Given the description of an element on the screen output the (x, y) to click on. 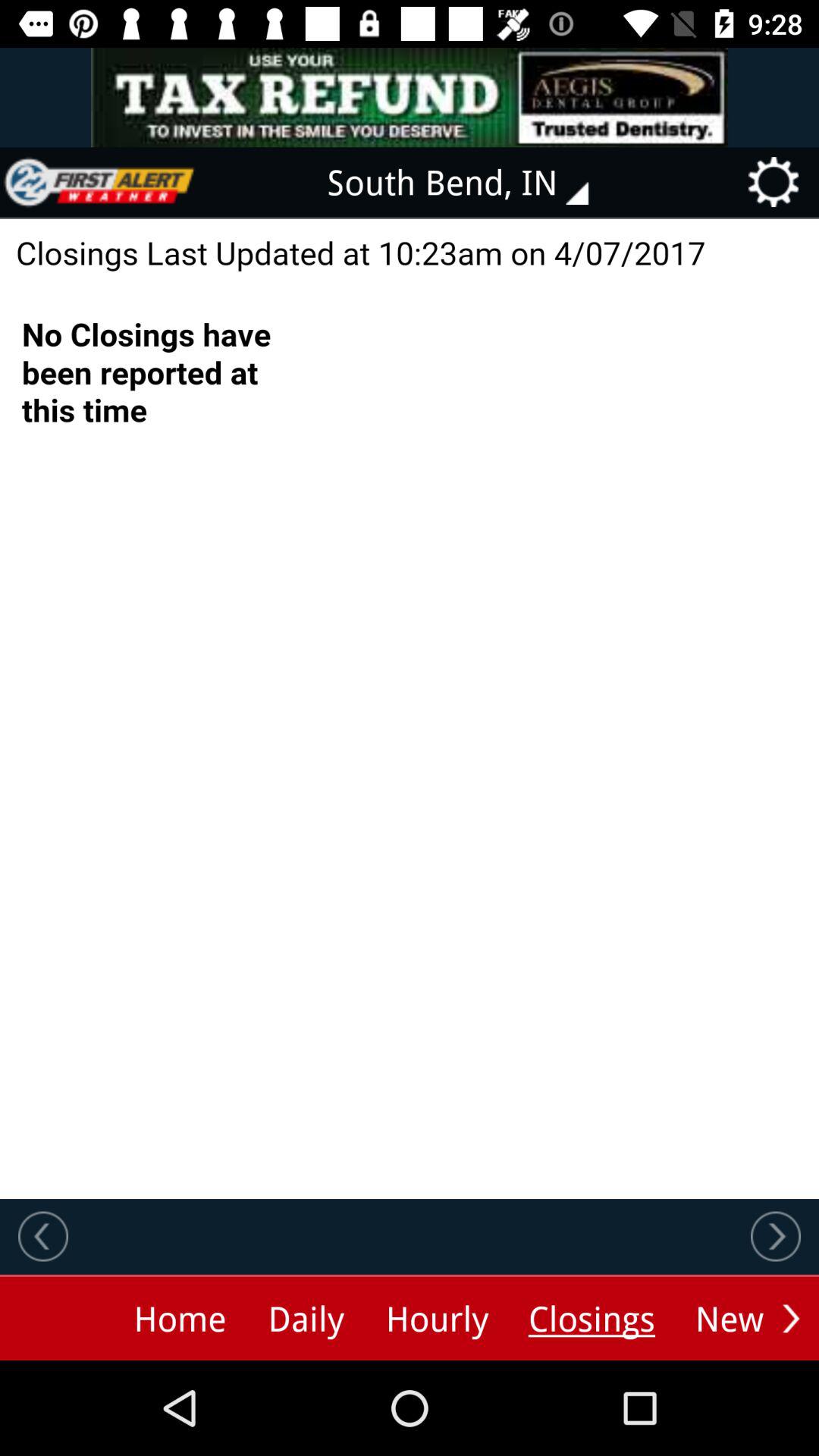
go back (43, 1236)
